Given the description of an element on the screen output the (x, y) to click on. 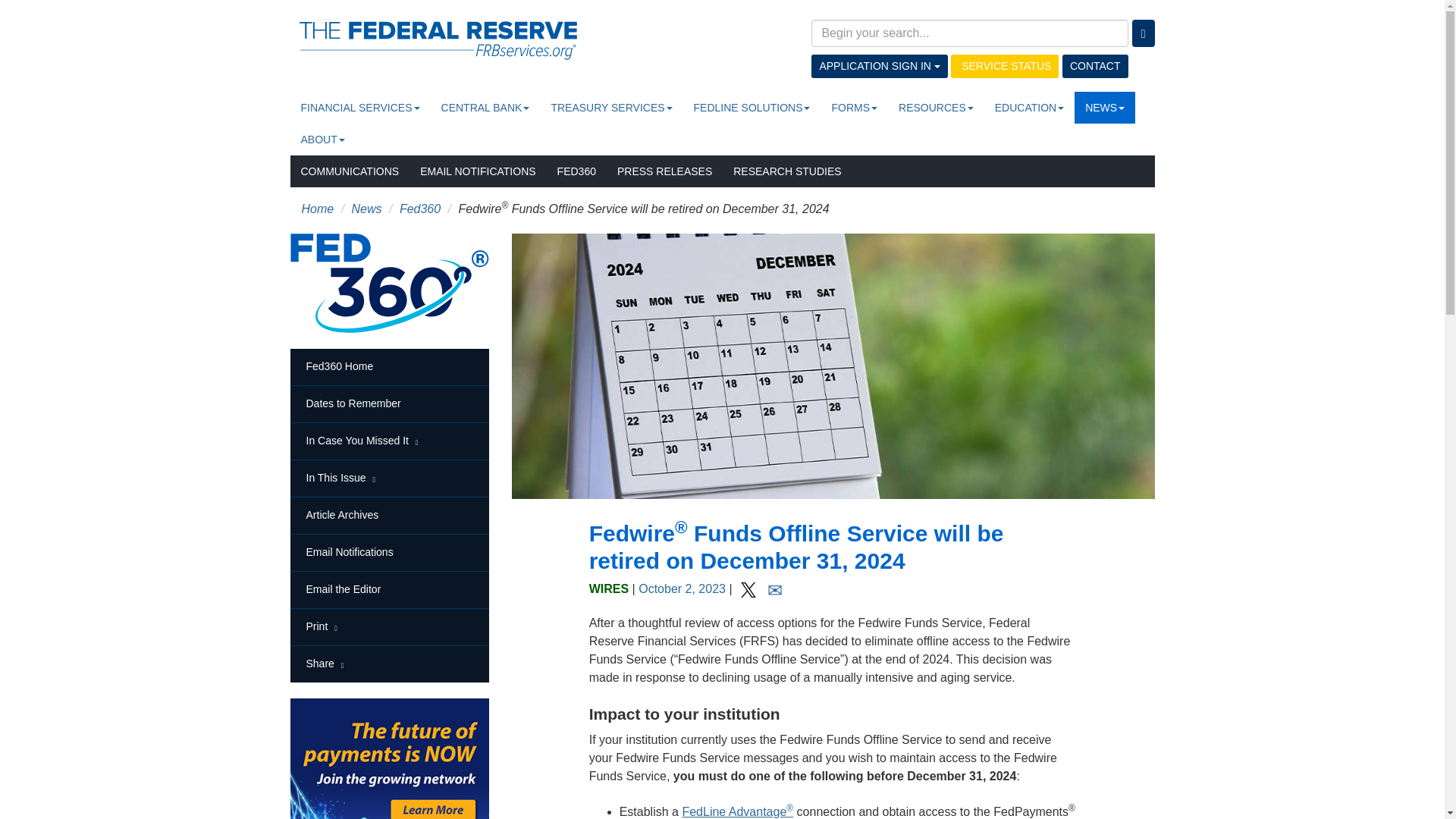
Email Article (775, 588)
FINANCIAL SERVICES (359, 107)
SERVICE STATUS (1004, 65)
APPLICATION SIGN IN (878, 65)
CONTACT (1095, 65)
